Given the description of an element on the screen output the (x, y) to click on. 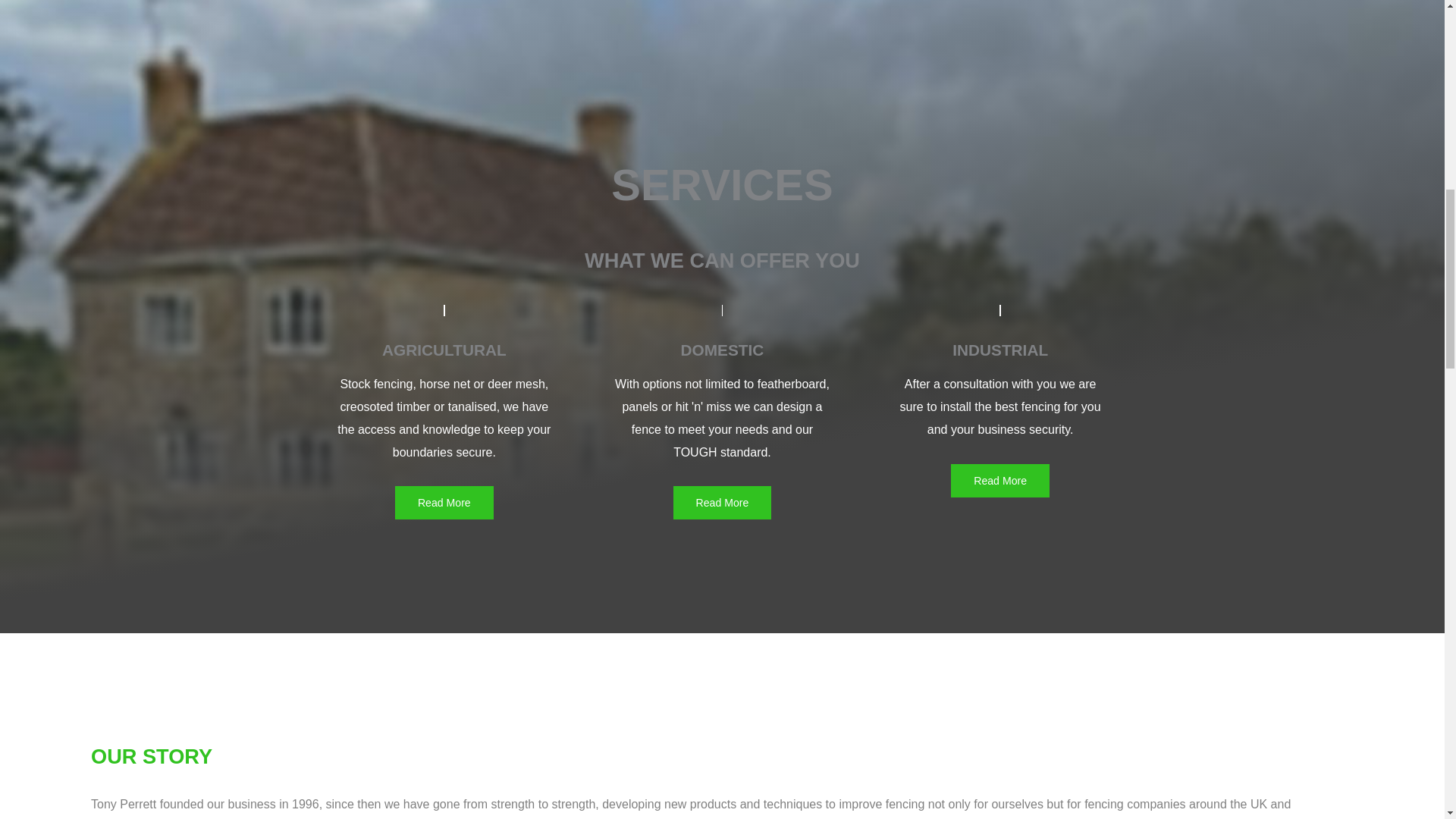
Read More (999, 480)
Read More (443, 502)
OUR STORY (151, 756)
Our Story (151, 756)
Read More (721, 502)
